Given the description of an element on the screen output the (x, y) to click on. 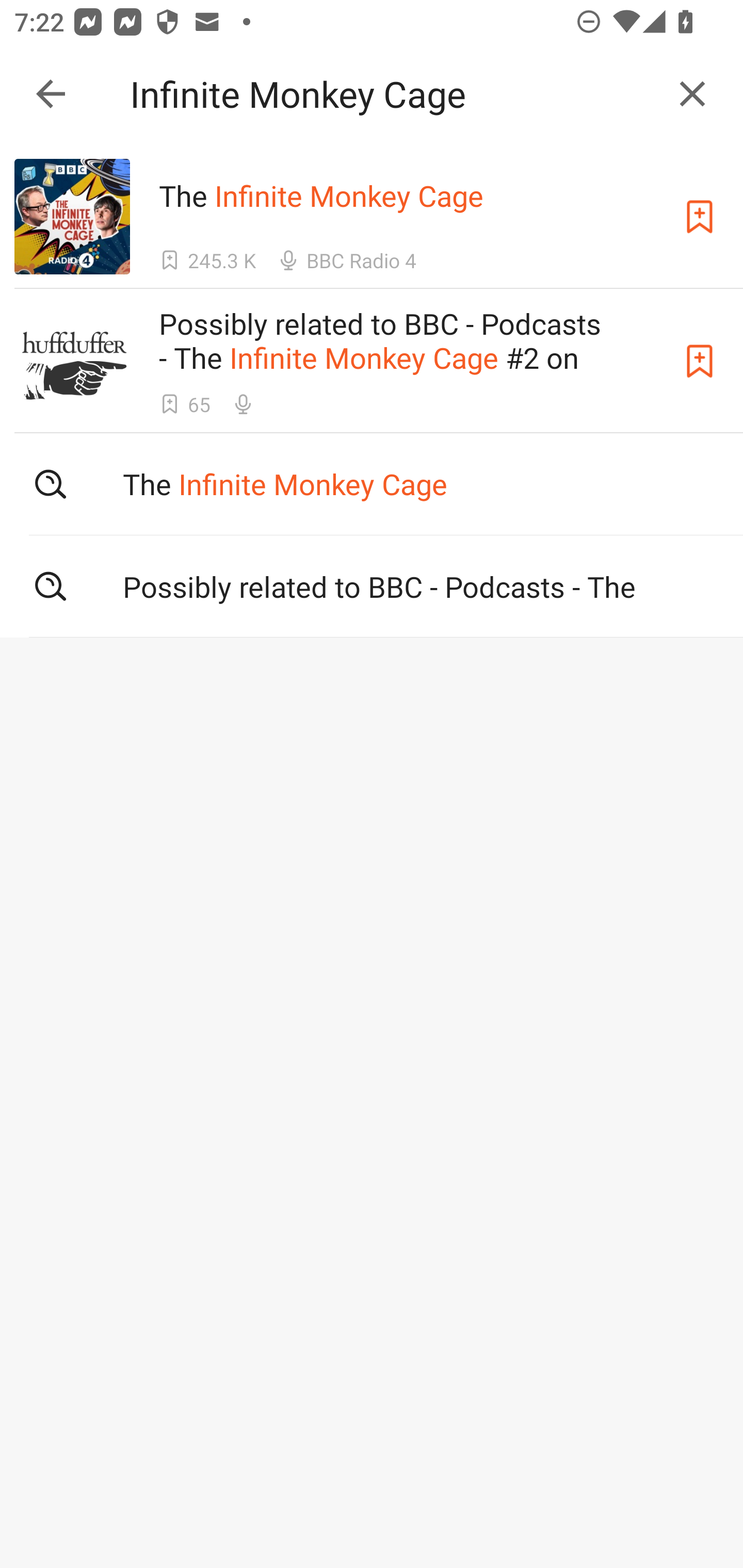
Collapse (50, 93)
Clear query (692, 93)
Infinite Monkey Cage (393, 94)
Subscribe (699, 216)
Subscribe (699, 360)
 The Infinite Monkey Cage (371, 483)
